Given the description of an element on the screen output the (x, y) to click on. 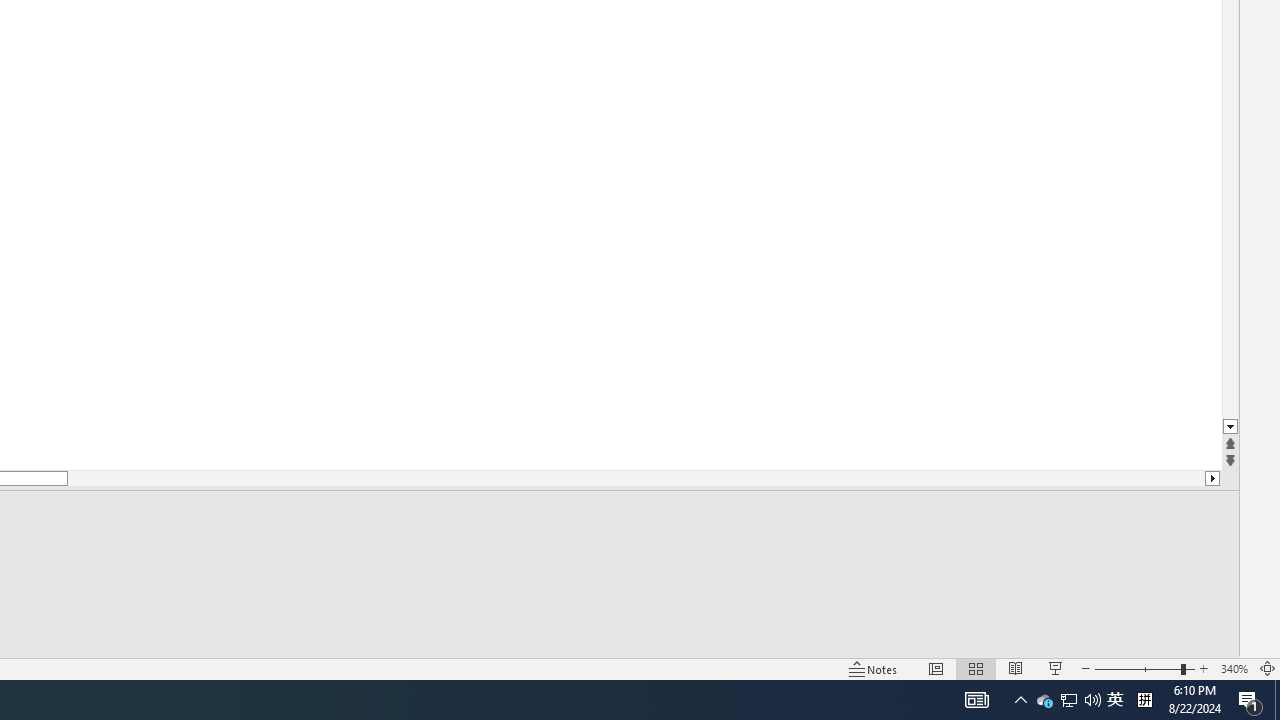
Page down (635, 478)
Zoom 340% (1234, 668)
Line down (1230, 427)
